Given the description of an element on the screen output the (x, y) to click on. 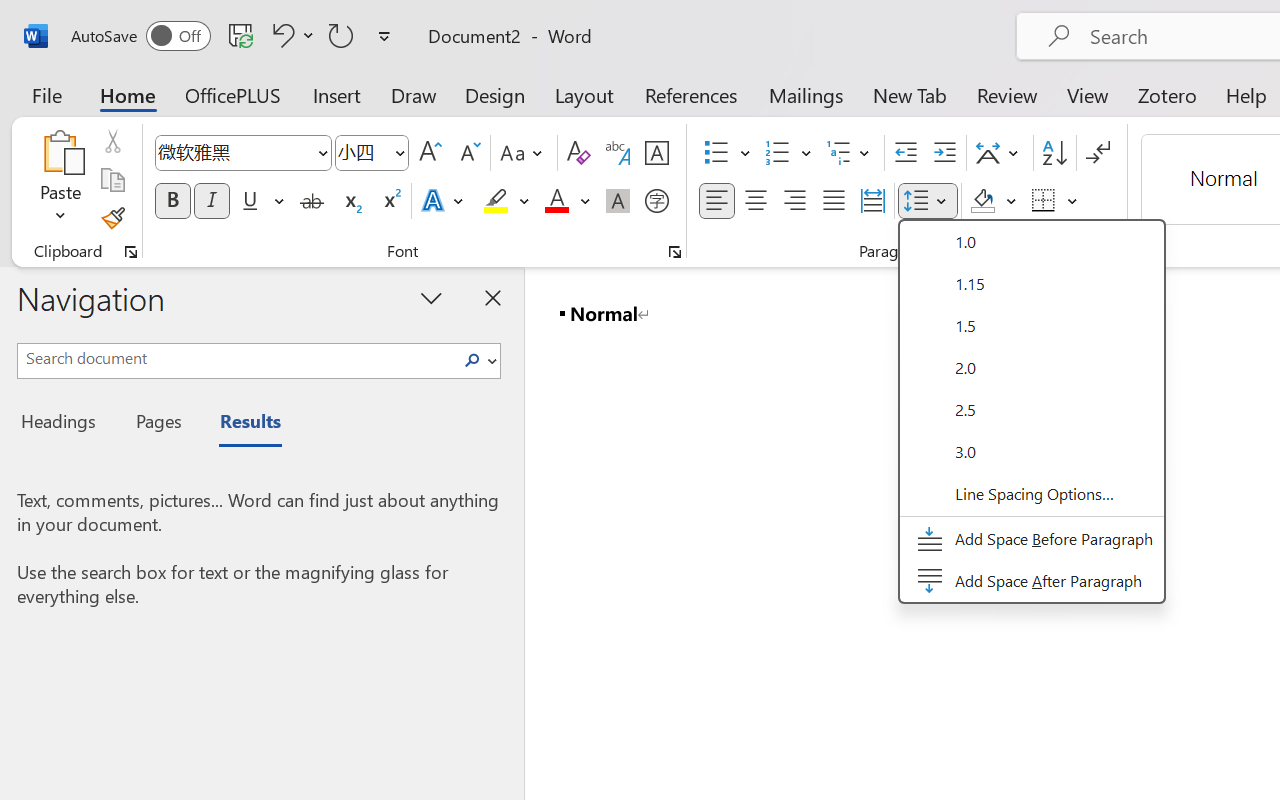
Font (242, 153)
Customize Quick Access Toolbar (384, 35)
Borders (1055, 201)
Underline (261, 201)
Paste (60, 151)
New Tab (909, 94)
Home (127, 94)
Enclose Characters... (656, 201)
Font Color Red (556, 201)
Change Case (524, 153)
Subscript (350, 201)
Review (1007, 94)
Open (399, 152)
Grow Font (430, 153)
Bullets (727, 153)
